Given the description of an element on the screen output the (x, y) to click on. 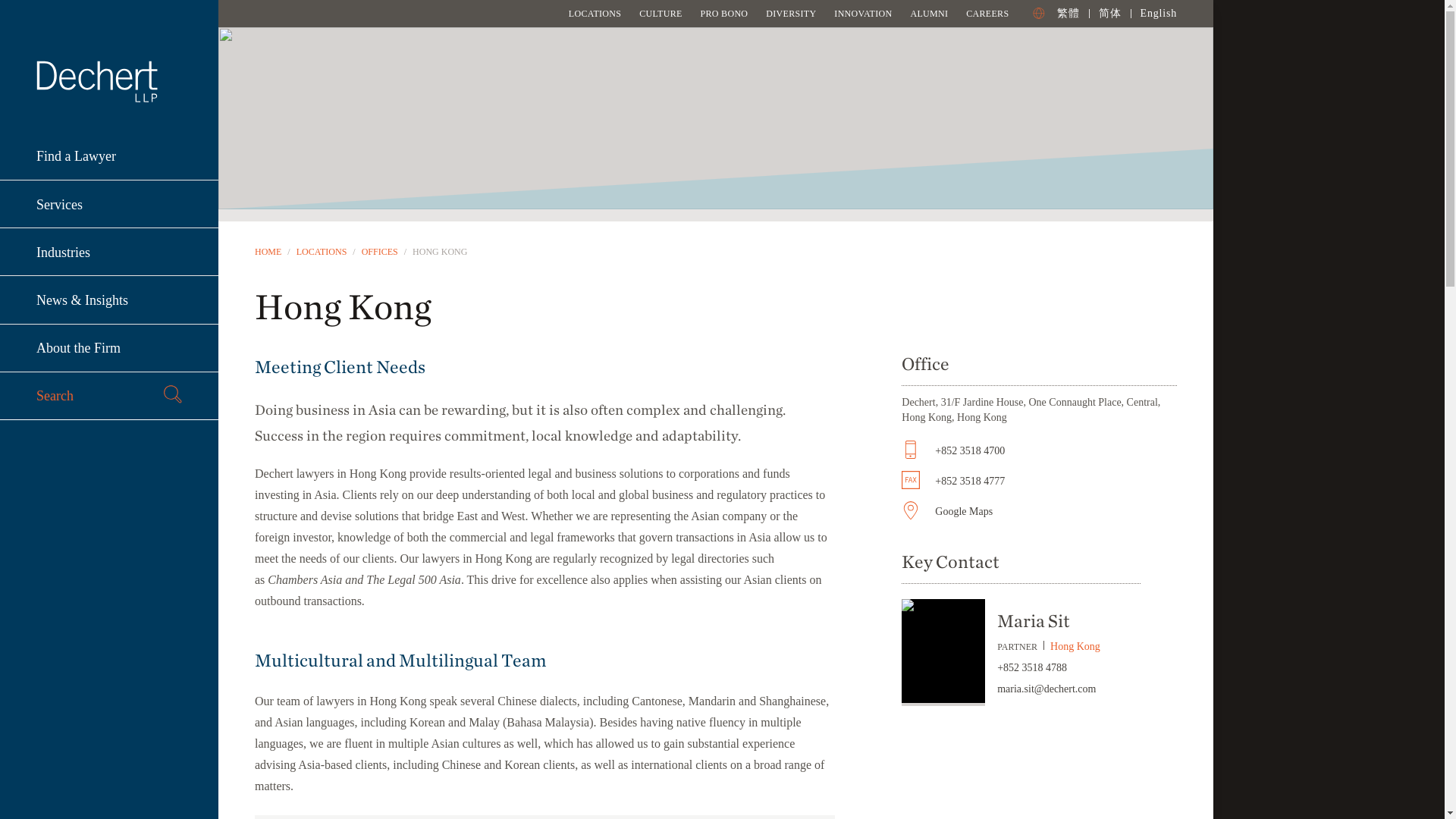
DIVERSITY (790, 13)
About the Firm (108, 348)
English (1158, 12)
LOCATIONS (595, 13)
Simplified Chinese (1110, 12)
HOME (267, 251)
CULTURE (660, 13)
CAREERS (987, 13)
Traditional Chinese (1068, 12)
INNOVATION (862, 13)
